Given the description of an element on the screen output the (x, y) to click on. 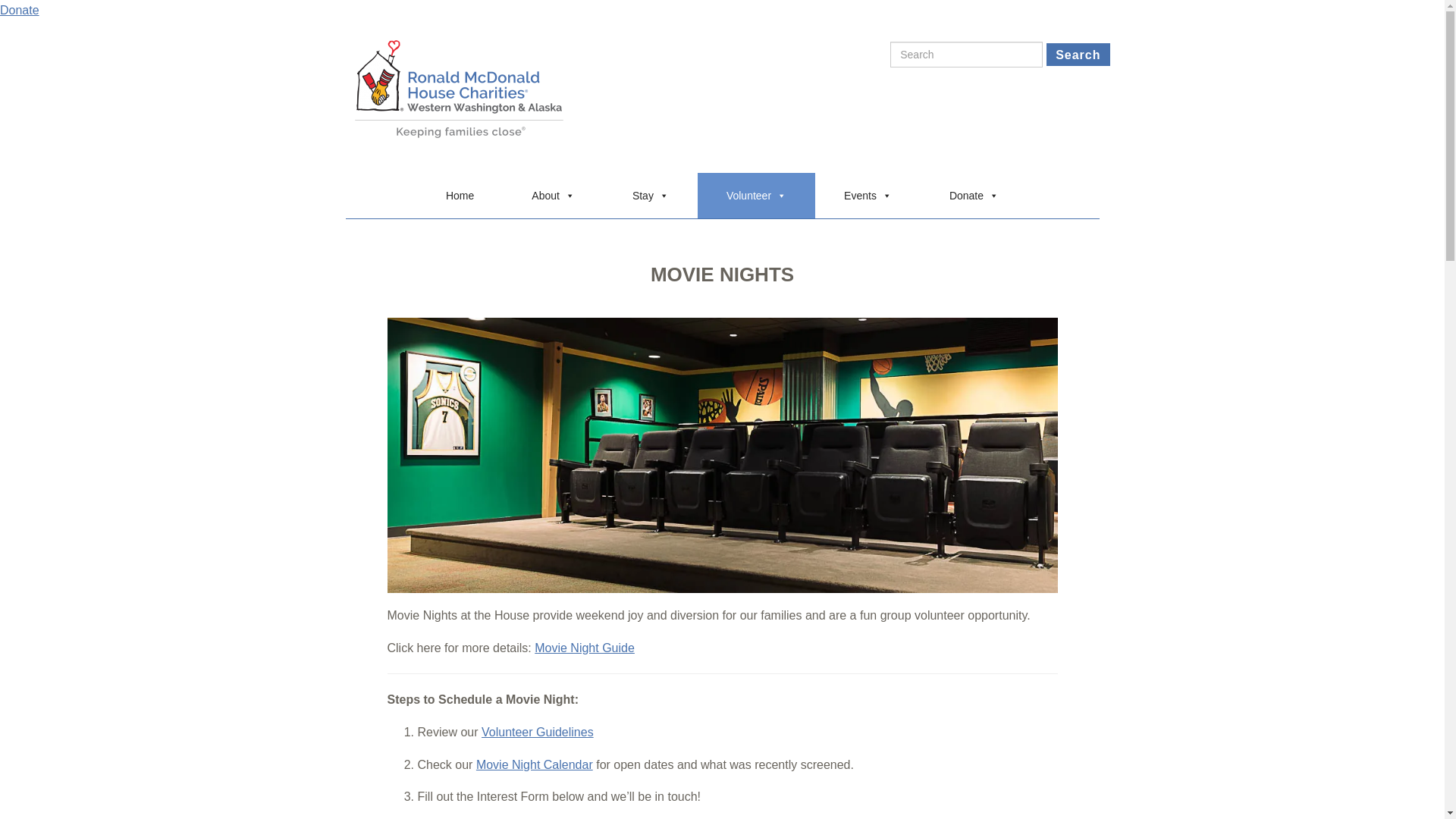
Donate (973, 195)
Donate (19, 10)
Stay (650, 195)
Events (867, 195)
Home (459, 195)
About (553, 195)
Search (1077, 54)
Volunteer (756, 195)
